Given the description of an element on the screen output the (x, y) to click on. 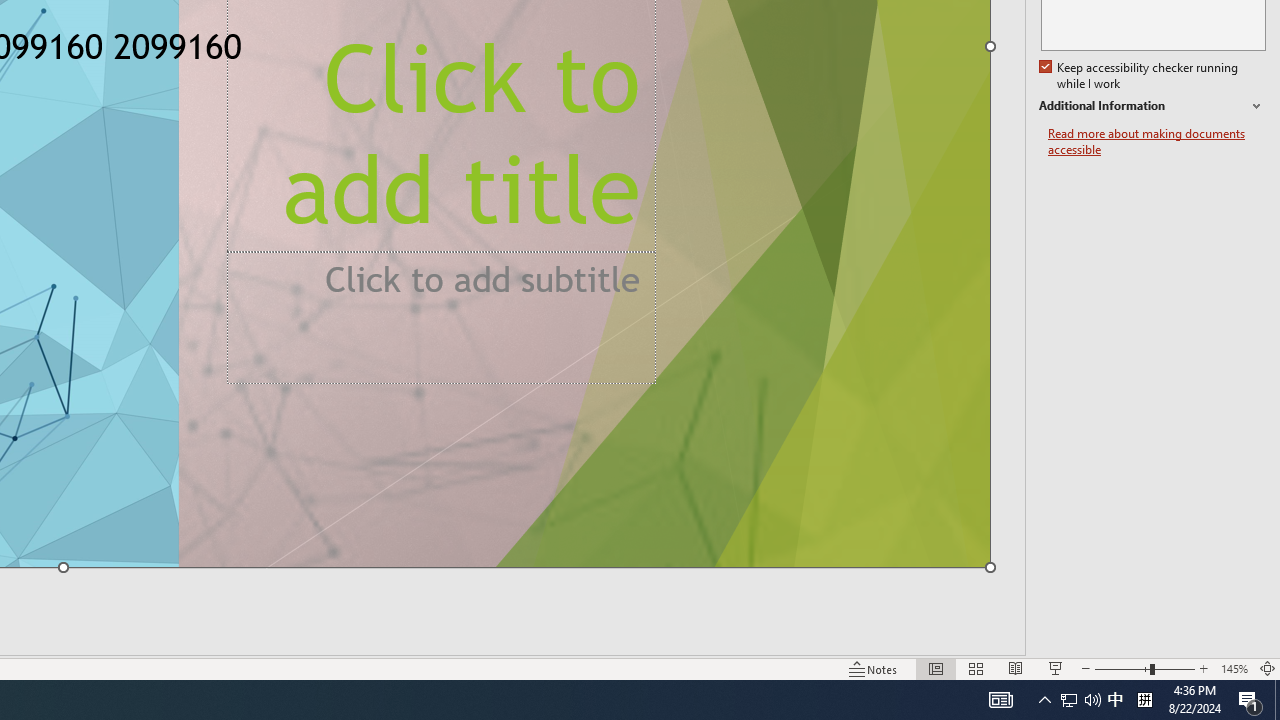
Zoom 145% (1234, 668)
